Given the description of an element on the screen output the (x, y) to click on. 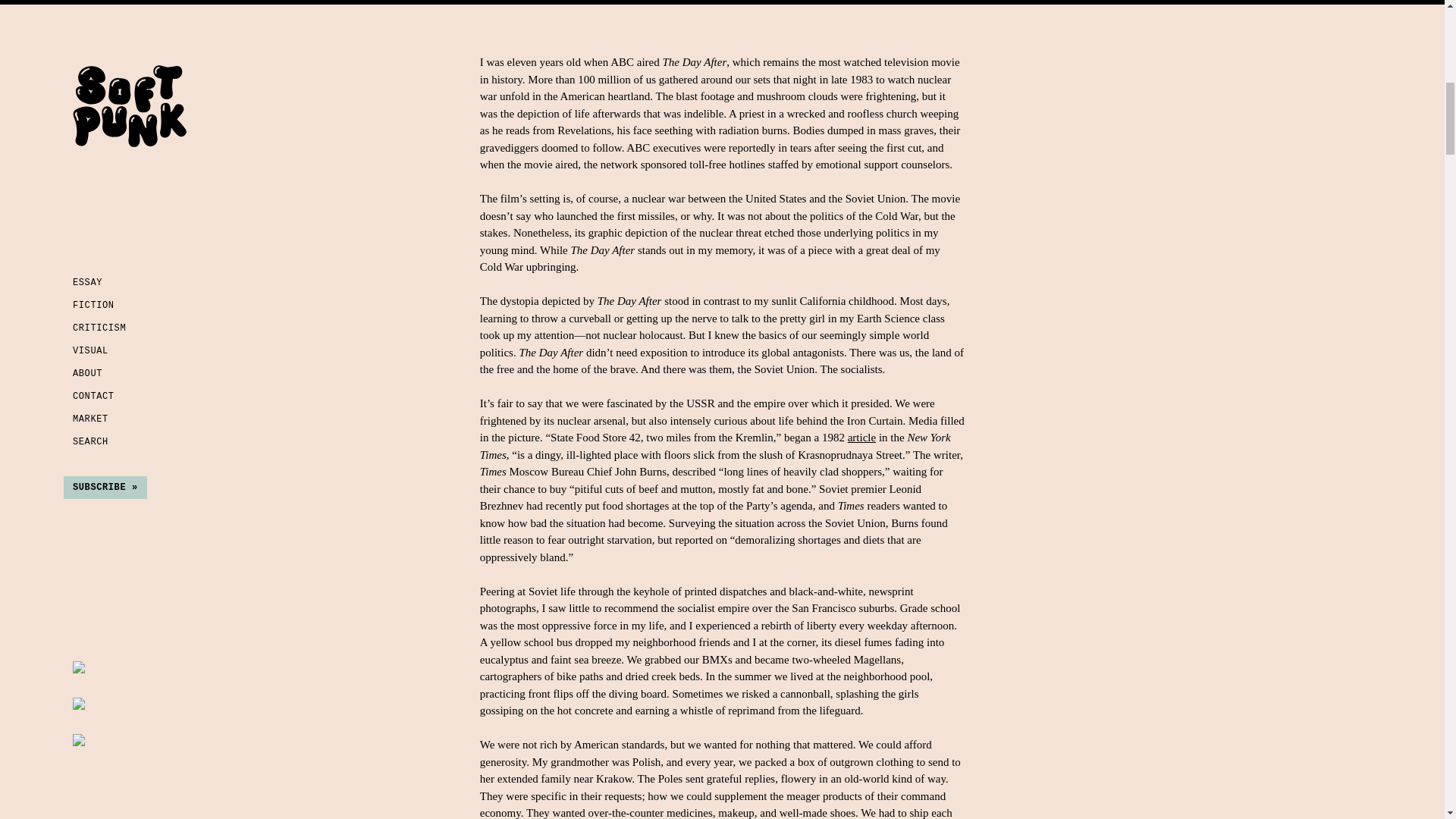
article (861, 437)
Subscribe (1058, 39)
